Given the description of an element on the screen output the (x, y) to click on. 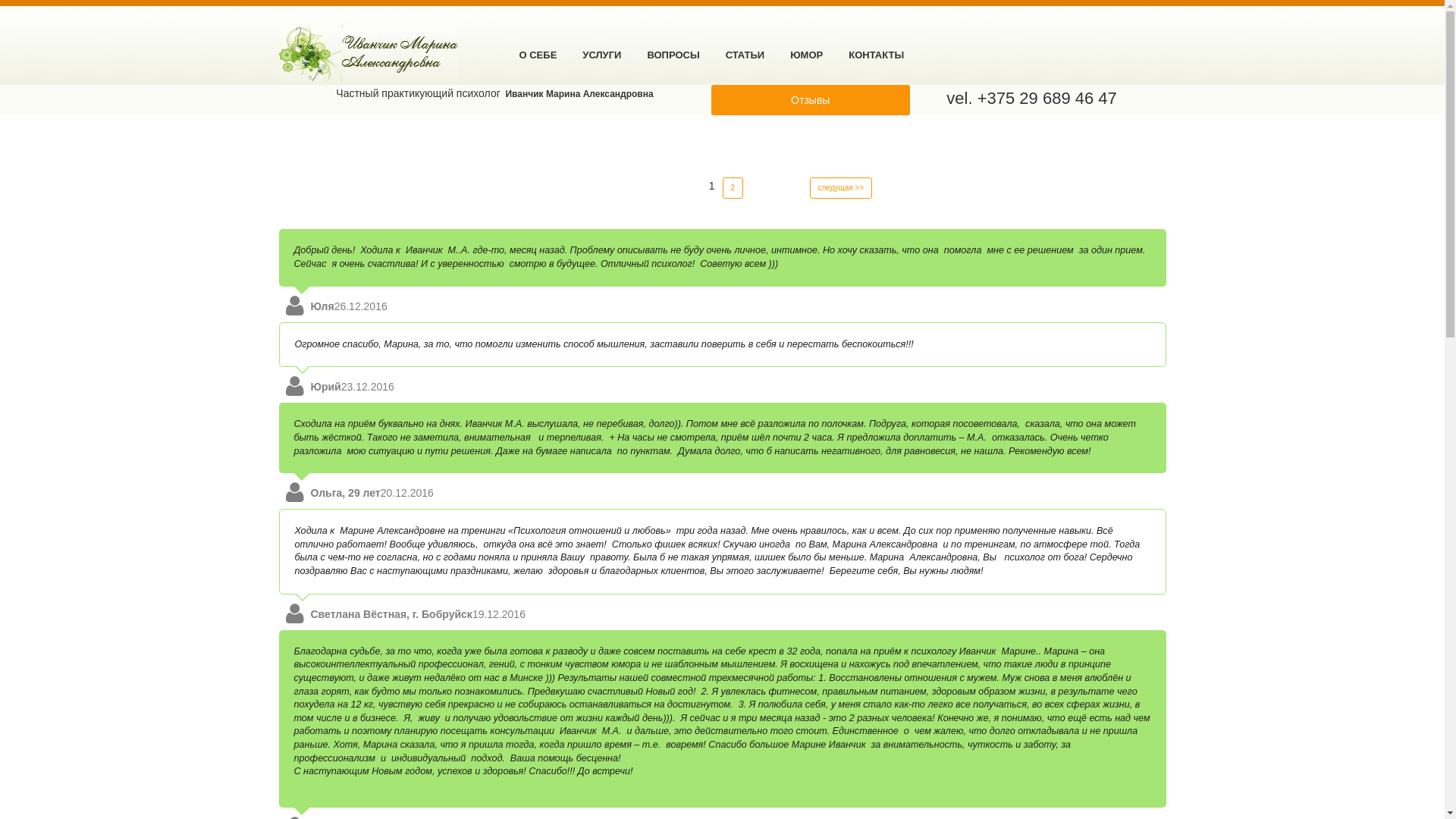
23.12.2016 Element type: text (367, 386)
20.12.2016 Element type: text (406, 492)
2 Element type: text (732, 187)
26.12.2016 Element type: text (360, 306)
19.12.2016 Element type: text (498, 614)
